Given the description of an element on the screen output the (x, y) to click on. 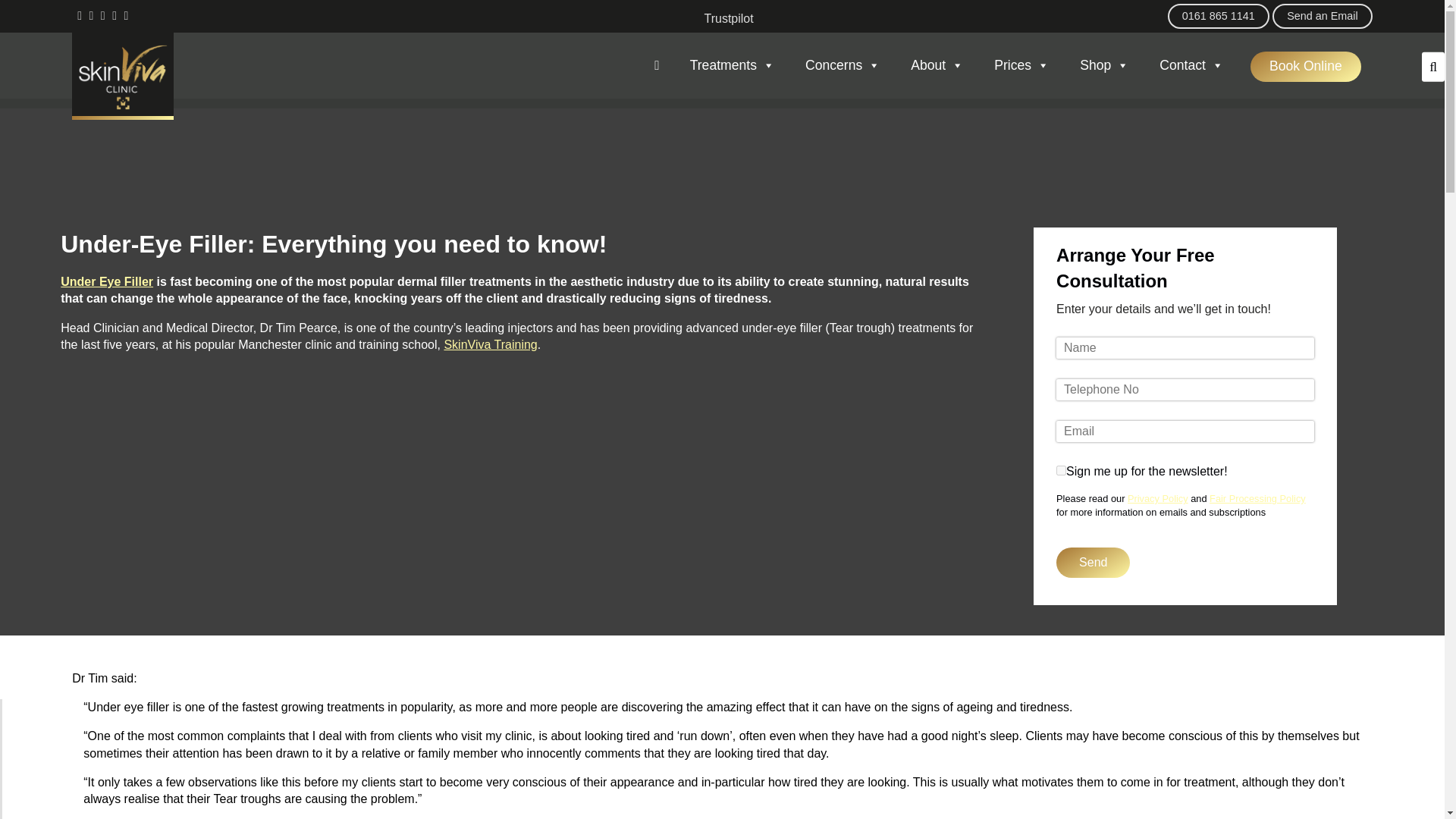
Send (1093, 562)
Trustpilot (727, 18)
1 (1061, 470)
Send an Email (1322, 16)
0161 865 1141 (1218, 16)
Treatments (731, 66)
